Given the description of an element on the screen output the (x, y) to click on. 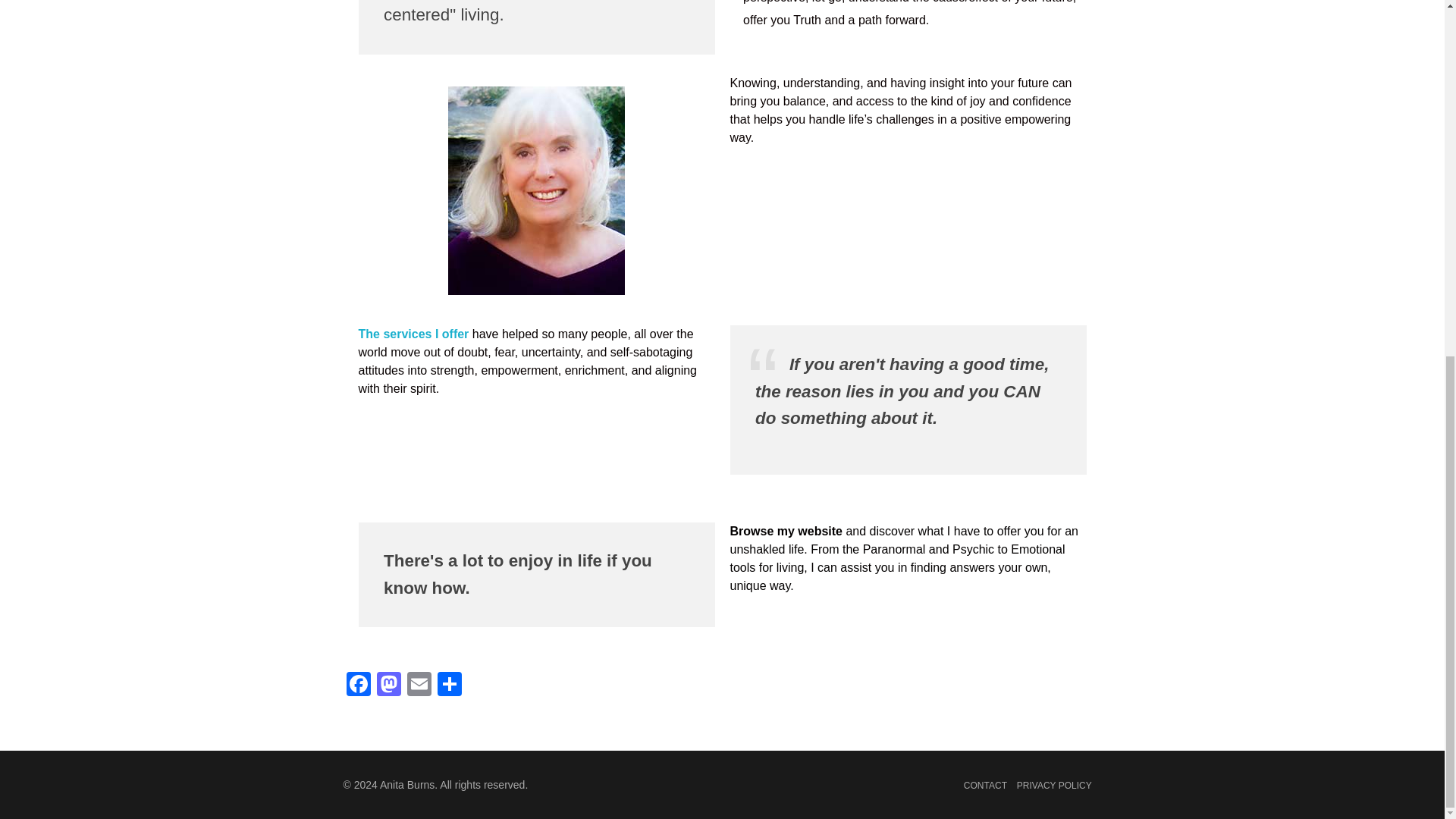
Email (418, 685)
Mastodon (387, 685)
The services I offer (413, 333)
Facebook (357, 685)
CONTACT (985, 785)
Email (418, 685)
Mastodon (387, 685)
PRIVACY POLICY (1054, 785)
Facebook (357, 685)
Share (448, 685)
